Given the description of an element on the screen output the (x, y) to click on. 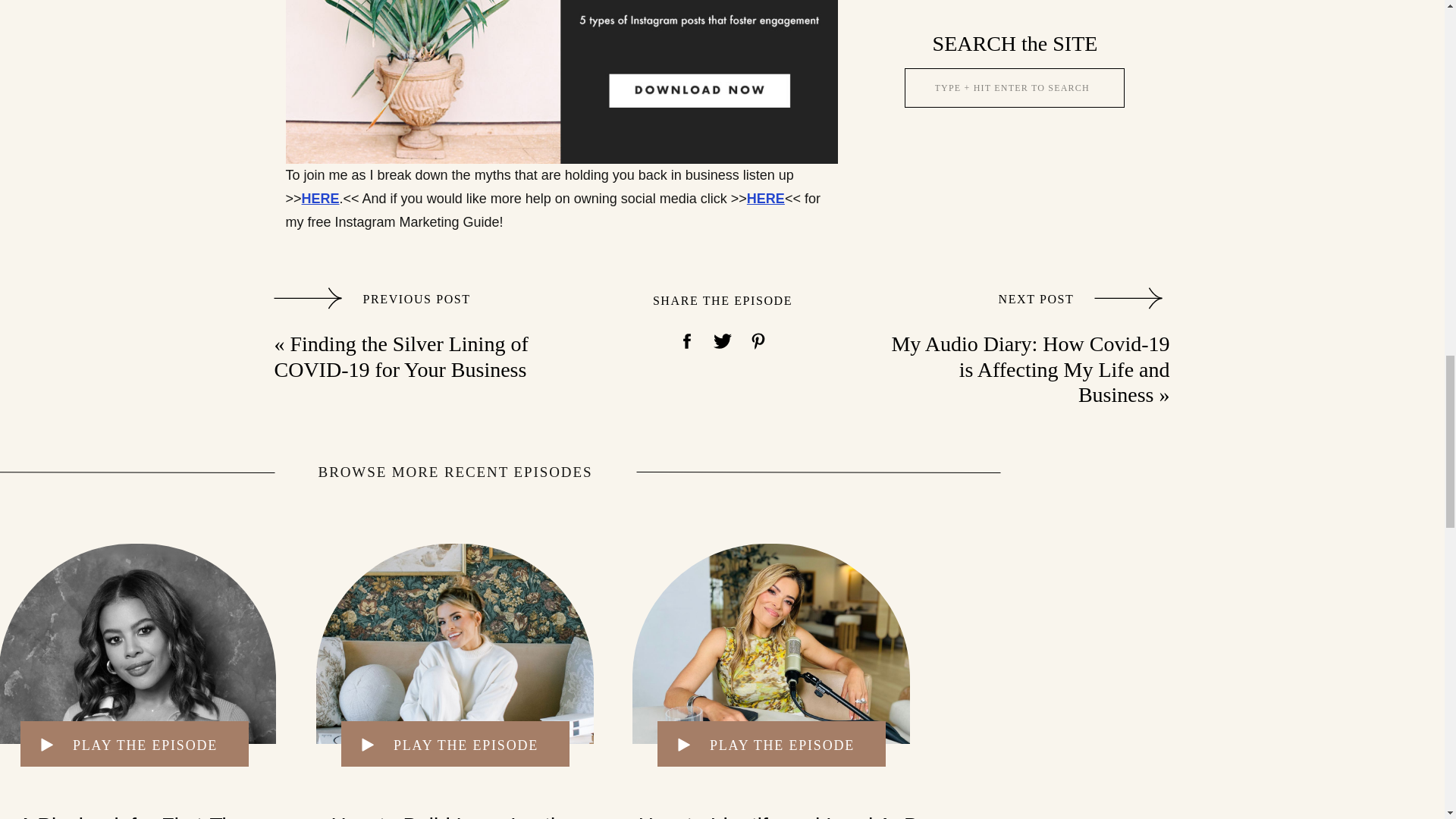
A Playbook for First-Time Founders with Nancy Twine (136, 816)
A Playbook for First-Time Founders with Nancy Twine (138, 643)
How to Build Long-Lasting Client Relationships in Business (454, 643)
Finding the Silver Lining of COVID-19 for Your Business (401, 356)
HERE (320, 198)
SHARE THE EPISODE (722, 300)
HERE (765, 198)
